Given the description of an element on the screen output the (x, y) to click on. 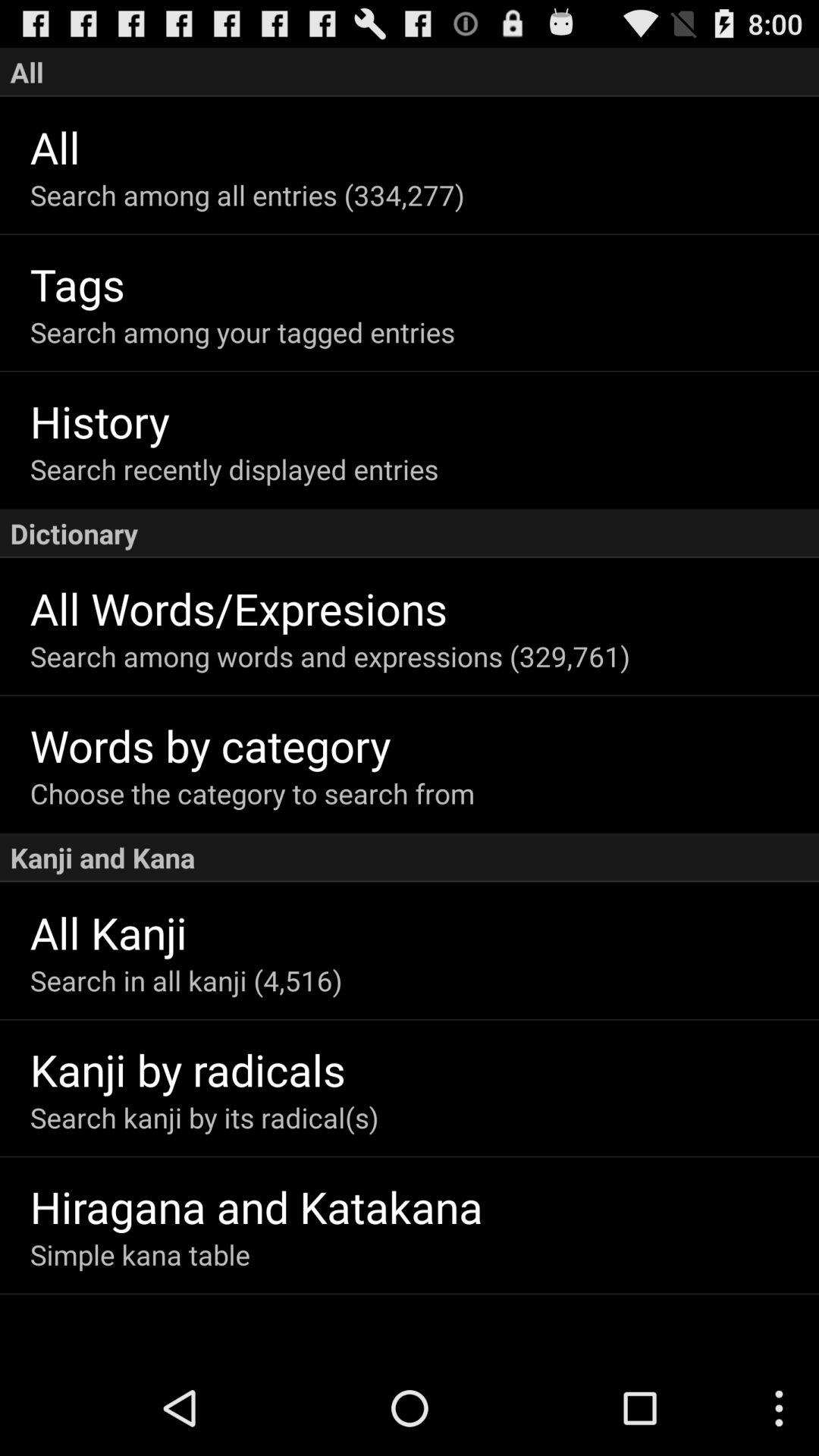
tap icon above search among words app (424, 607)
